Given the description of an element on the screen output the (x, y) to click on. 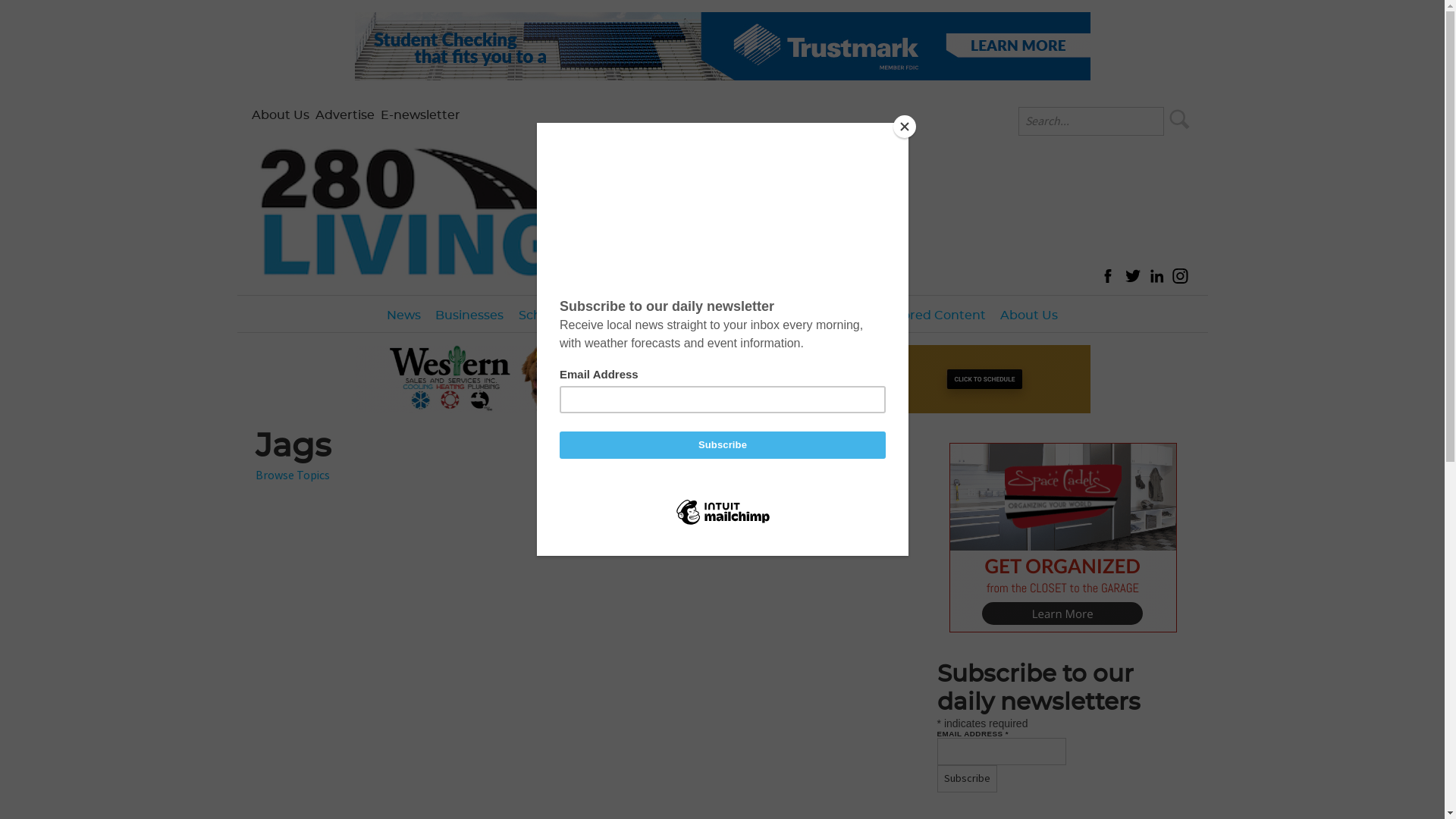
Enter Search Words Element type: hover (1091, 120)
Browse Topics Element type: text (292, 475)
Chelsea Schools Element type: text (587, 343)
Sponsored Content Element type: text (924, 313)
280Living.com Element type: hover (410, 212)
Sports Element type: text (599, 313)
Kari Kampakis Element type: text (798, 343)
3rd party ad content Element type: hover (722, 46)
News Element type: text (403, 313)
About Us Element type: text (1028, 313)
Businesses Element type: text (469, 313)
Our Staff Element type: text (1055, 343)
3rd party ad content Element type: hover (1062, 537)
3rd party ad content Element type: hover (722, 379)
Subscribe Element type: text (967, 778)
Schools Element type: text (541, 313)
Advertise Element type: text (344, 114)
About Us Element type: text (280, 114)
Oak Mountain Element type: text (623, 343)
Women in Business Element type: text (947, 343)
linkedin Element type: text (1156, 275)
RSS Element type: text (896, 436)
Events Element type: text (828, 313)
SEARCH Element type: text (1179, 118)
E-newsletter Element type: text (420, 114)
Columns Element type: text (765, 313)
facebook Element type: text (1107, 275)
280Living.com Element type: hover (410, 206)
instagram Element type: text (1180, 275)
twitter Element type: text (1132, 275)
People/Places Element type: text (678, 313)
